Given the description of an element on the screen output the (x, y) to click on. 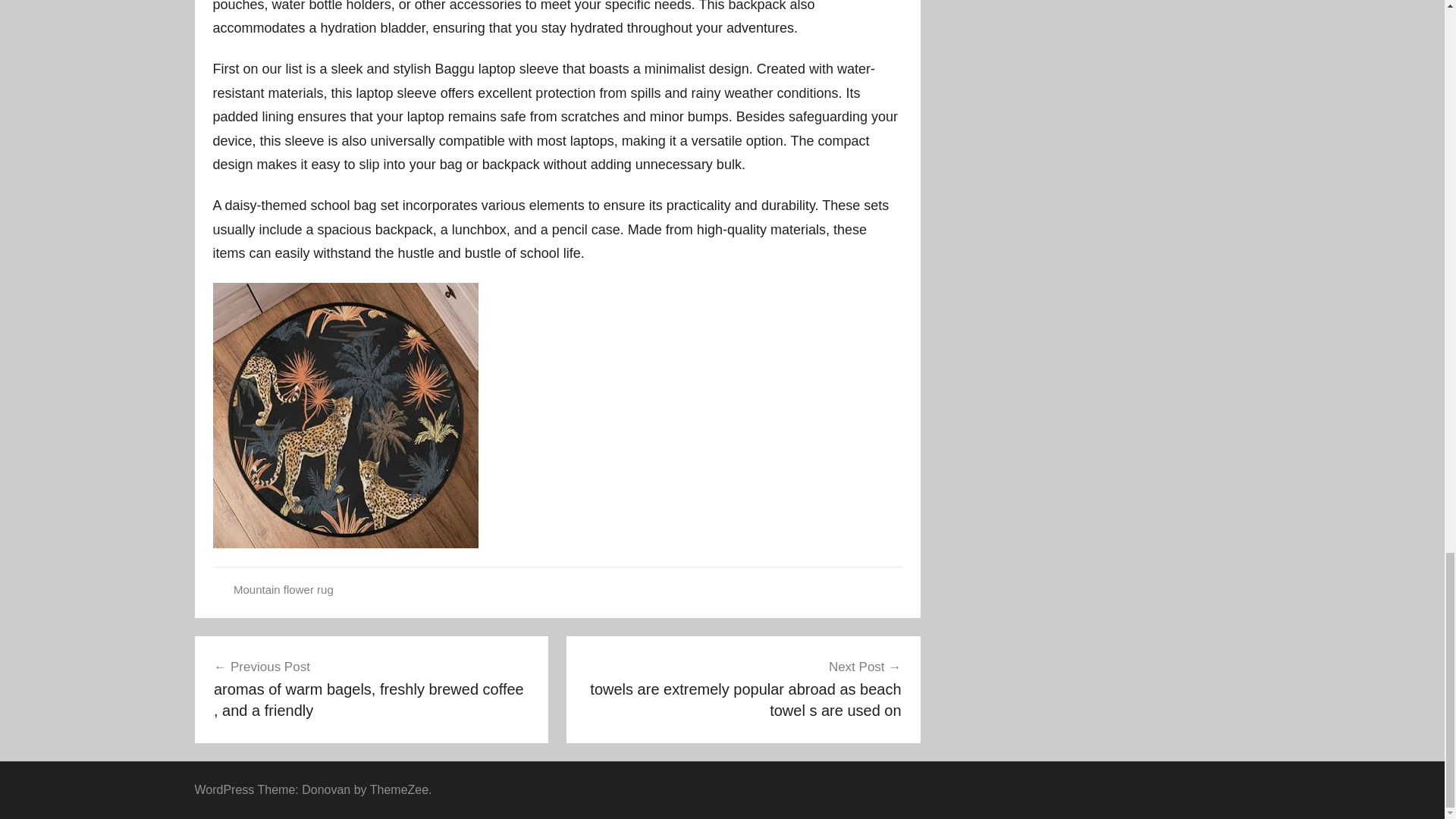
Mountain flower rug (282, 589)
